Given the description of an element on the screen output the (x, y) to click on. 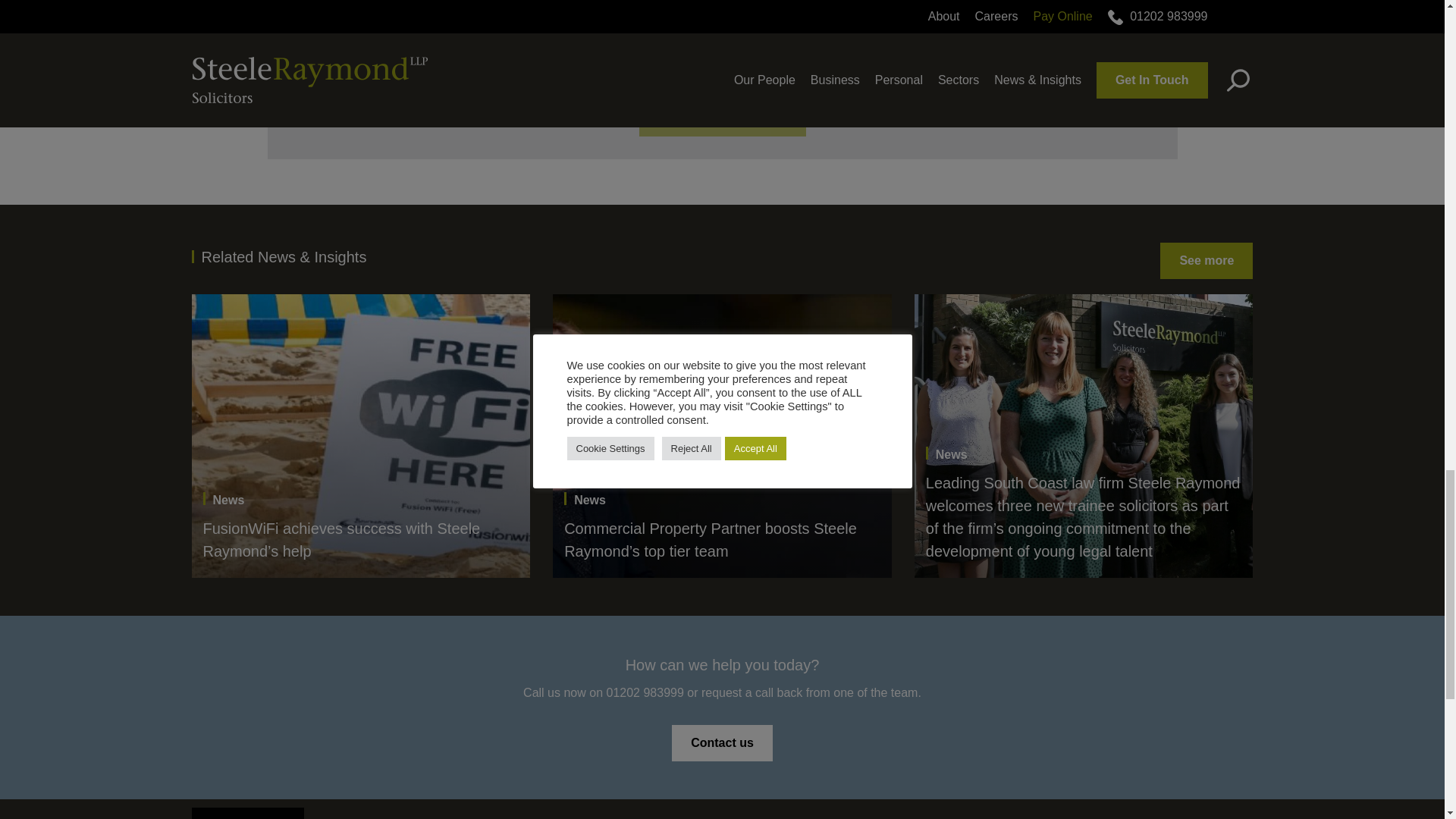
1 (361, 62)
1 (361, 14)
Submit (722, 120)
Contact us (722, 742)
